Given the description of an element on the screen output the (x, y) to click on. 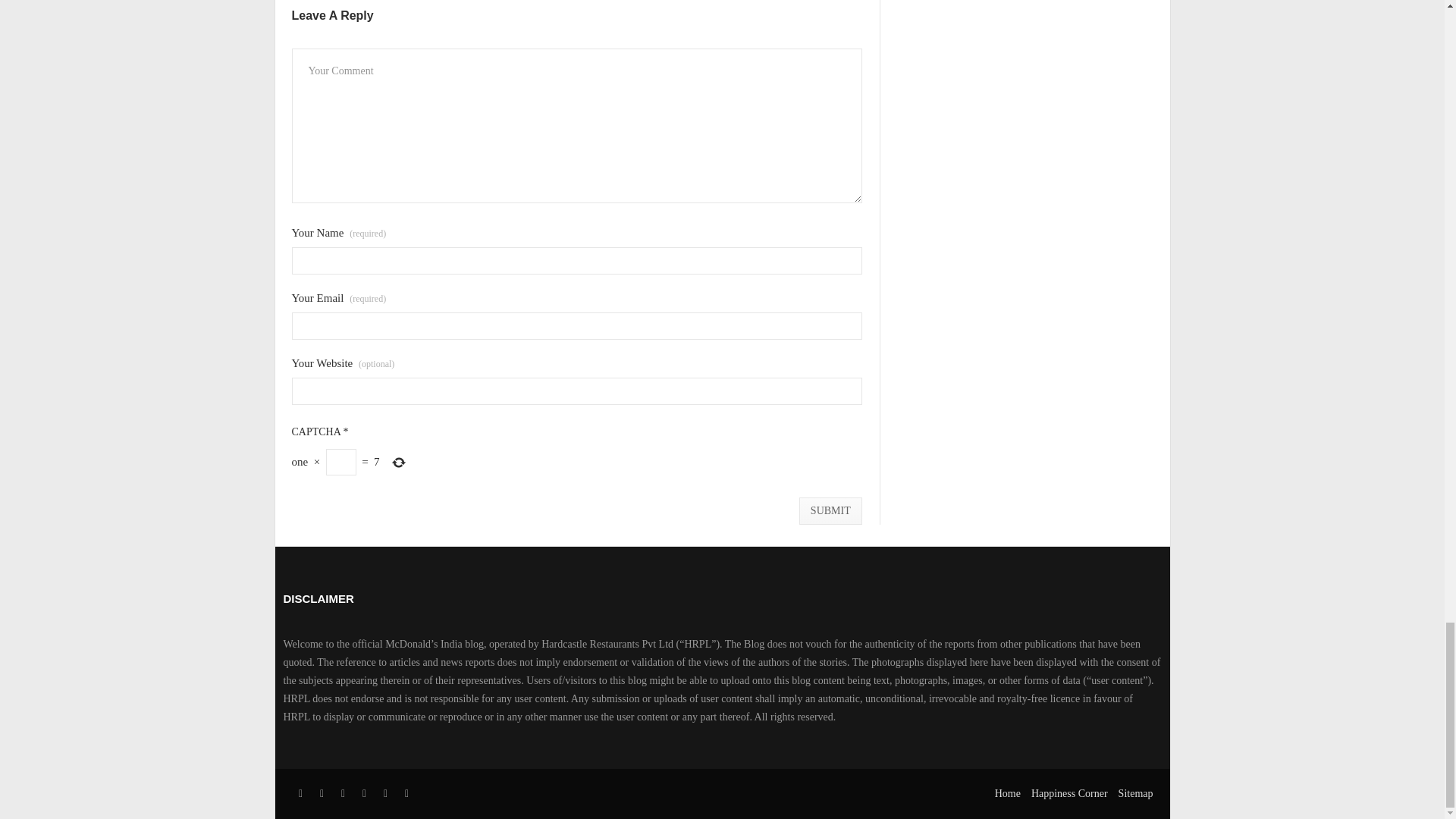
Submit (830, 510)
